Given the description of an element on the screen output the (x, y) to click on. 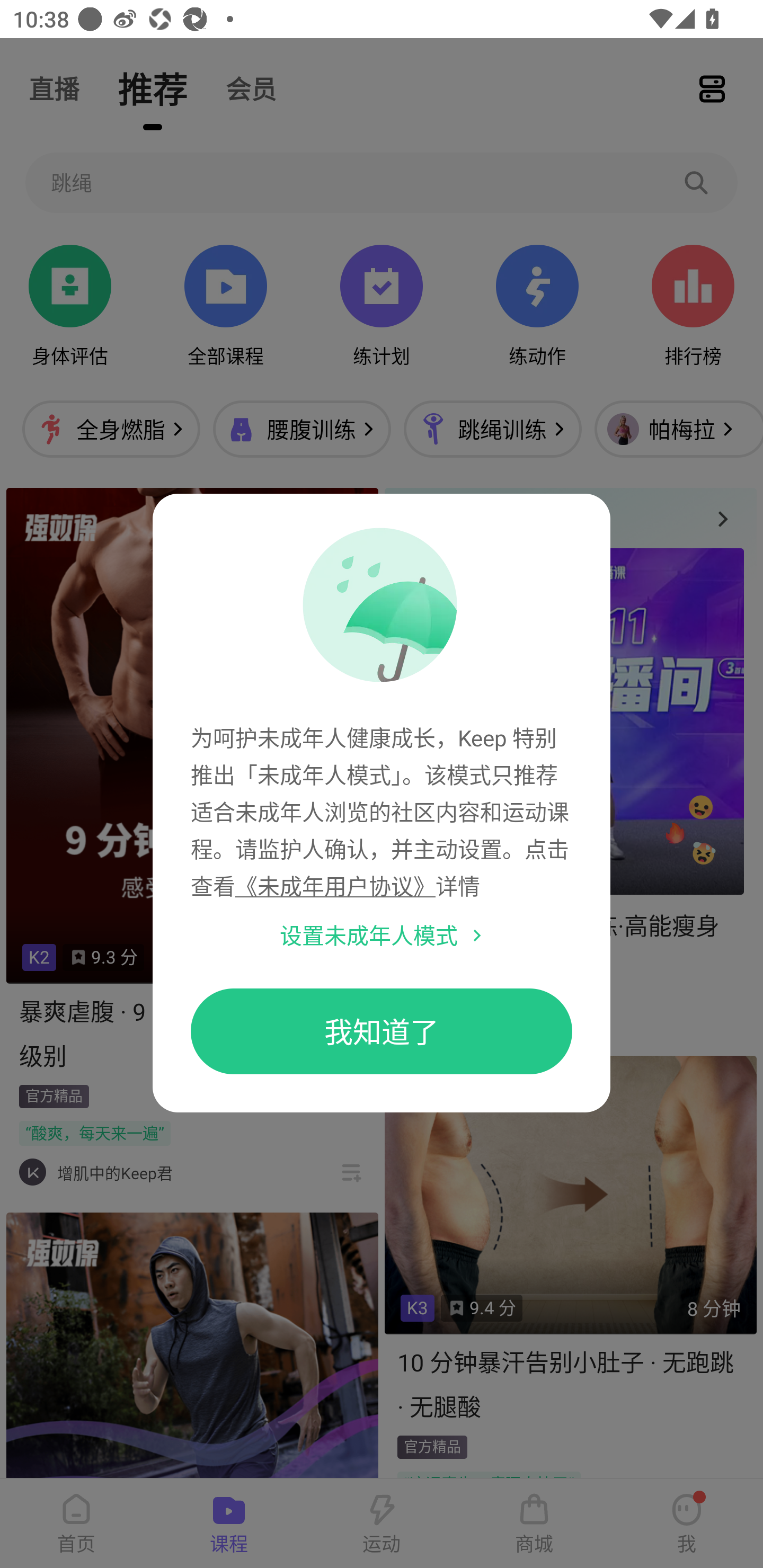
设置未成年人模式 (368, 935)
我知道了 (381, 1030)
